Given the description of an element on the screen output the (x, y) to click on. 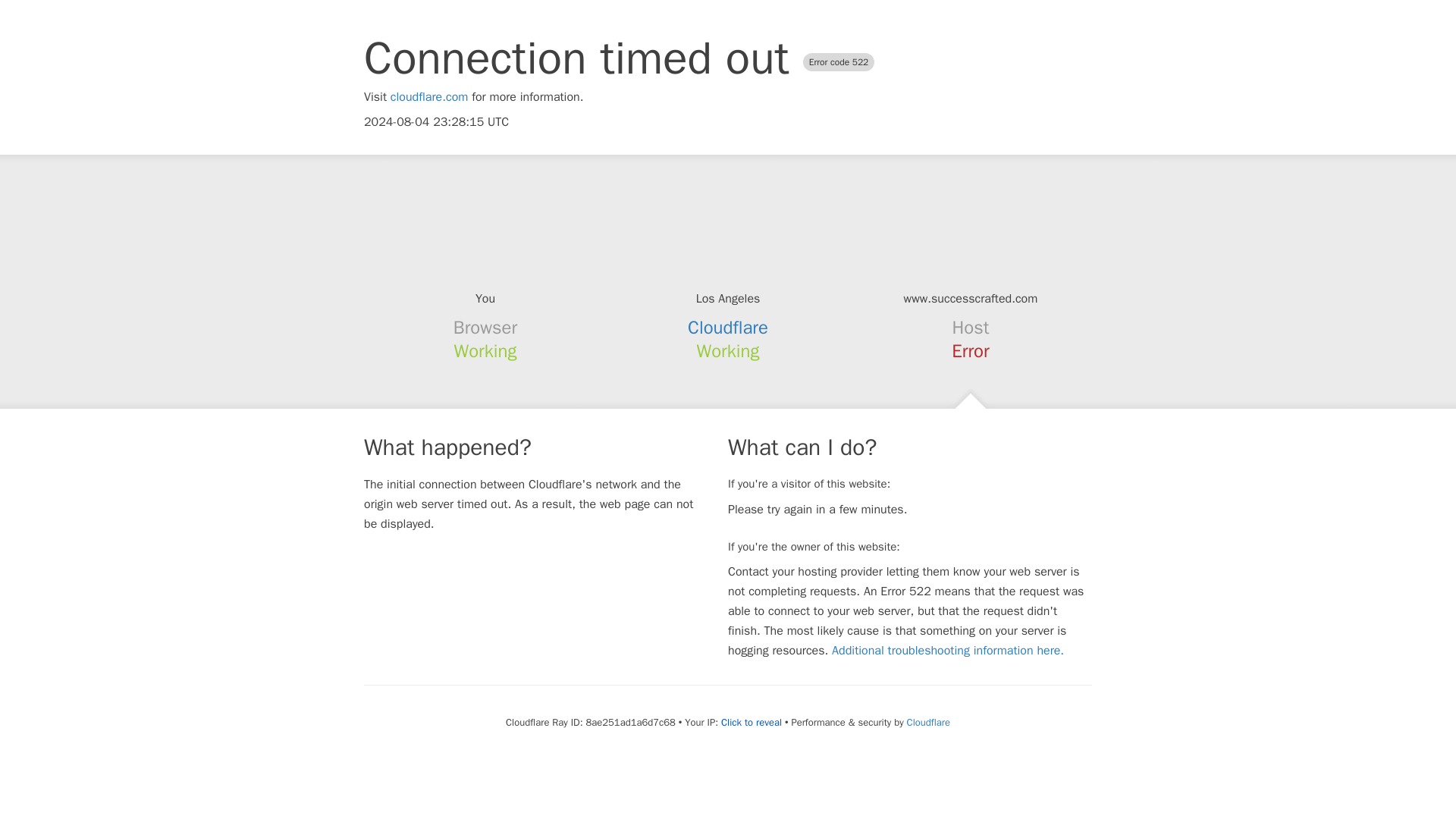
Cloudflare (727, 327)
Cloudflare (928, 721)
Additional troubleshooting information here. (947, 650)
cloudflare.com (429, 96)
Click to reveal (750, 722)
